Given the description of an element on the screen output the (x, y) to click on. 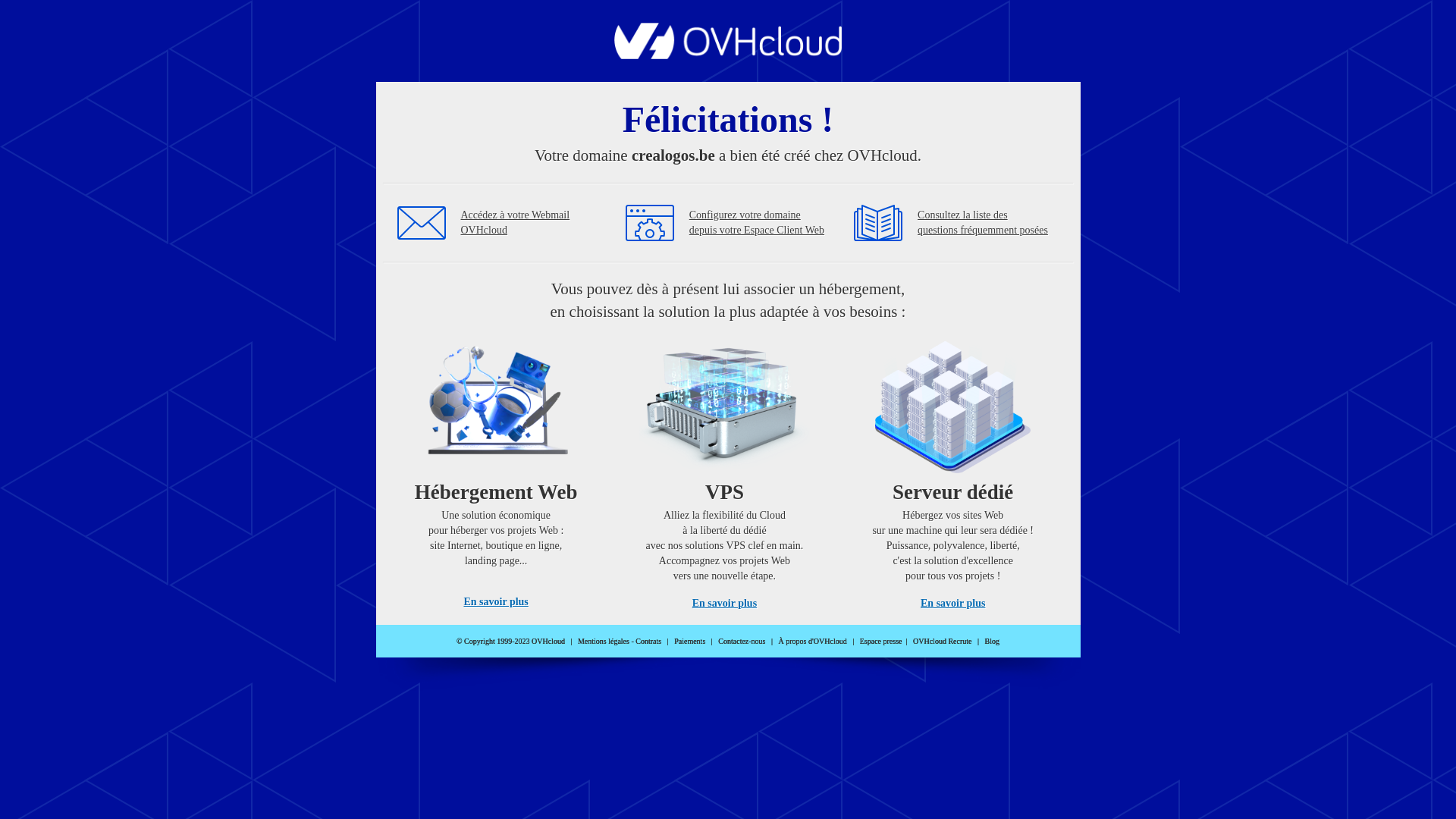
Contactez-nous Element type: text (741, 641)
Blog Element type: text (992, 641)
OVHcloud Recrute Element type: text (942, 641)
Paiements Element type: text (689, 641)
VPS Element type: hover (724, 469)
OVHcloud Element type: hover (727, 54)
En savoir plus Element type: text (495, 601)
Configurez votre domaine
depuis votre Espace Client Web Element type: text (756, 222)
En savoir plus Element type: text (724, 602)
Espace presse Element type: text (880, 641)
En savoir plus Element type: text (952, 602)
